Given the description of an element on the screen output the (x, y) to click on. 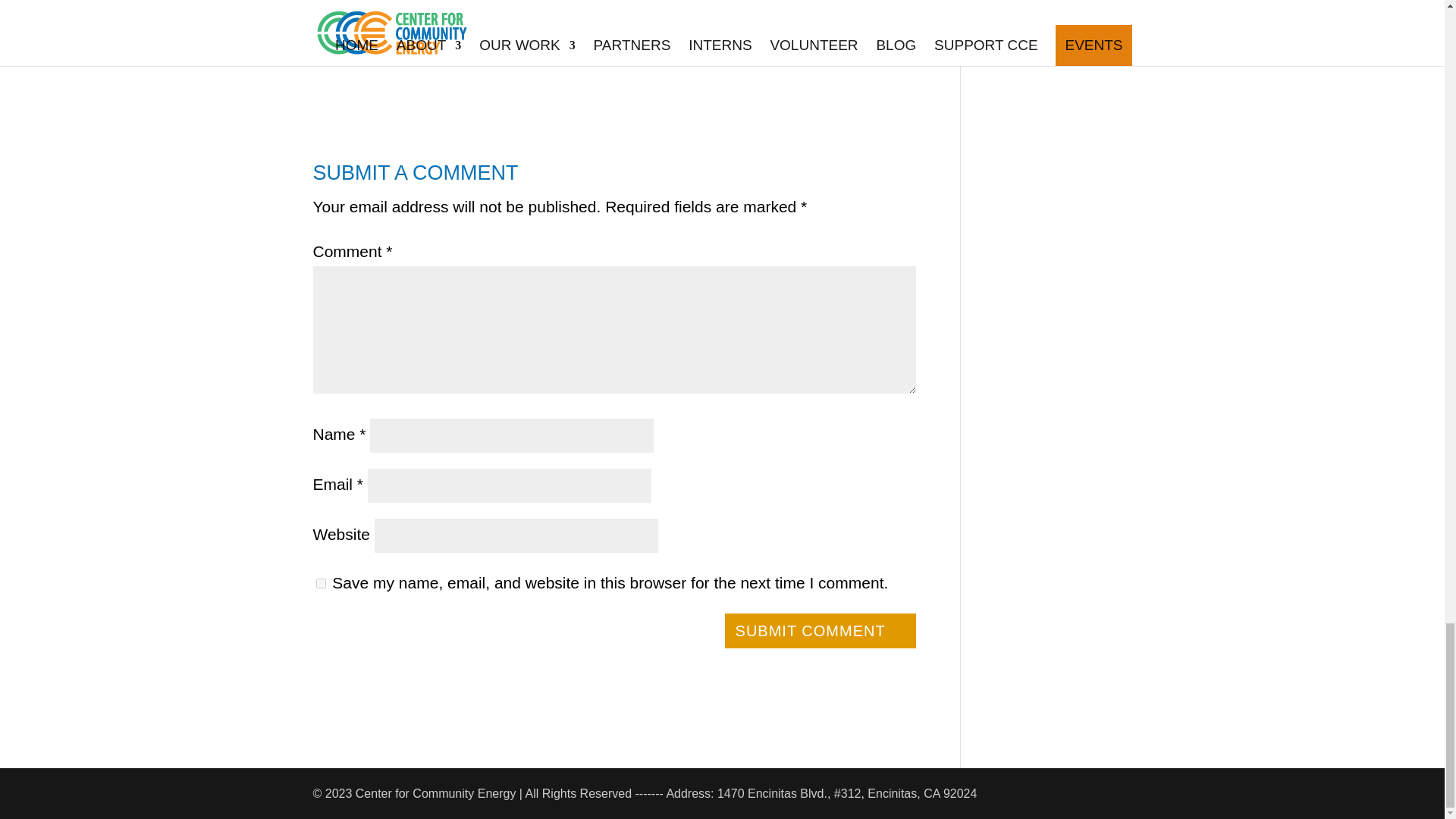
Submit Comment (820, 630)
Submit Comment (820, 630)
yes (319, 583)
